Given the description of an element on the screen output the (x, y) to click on. 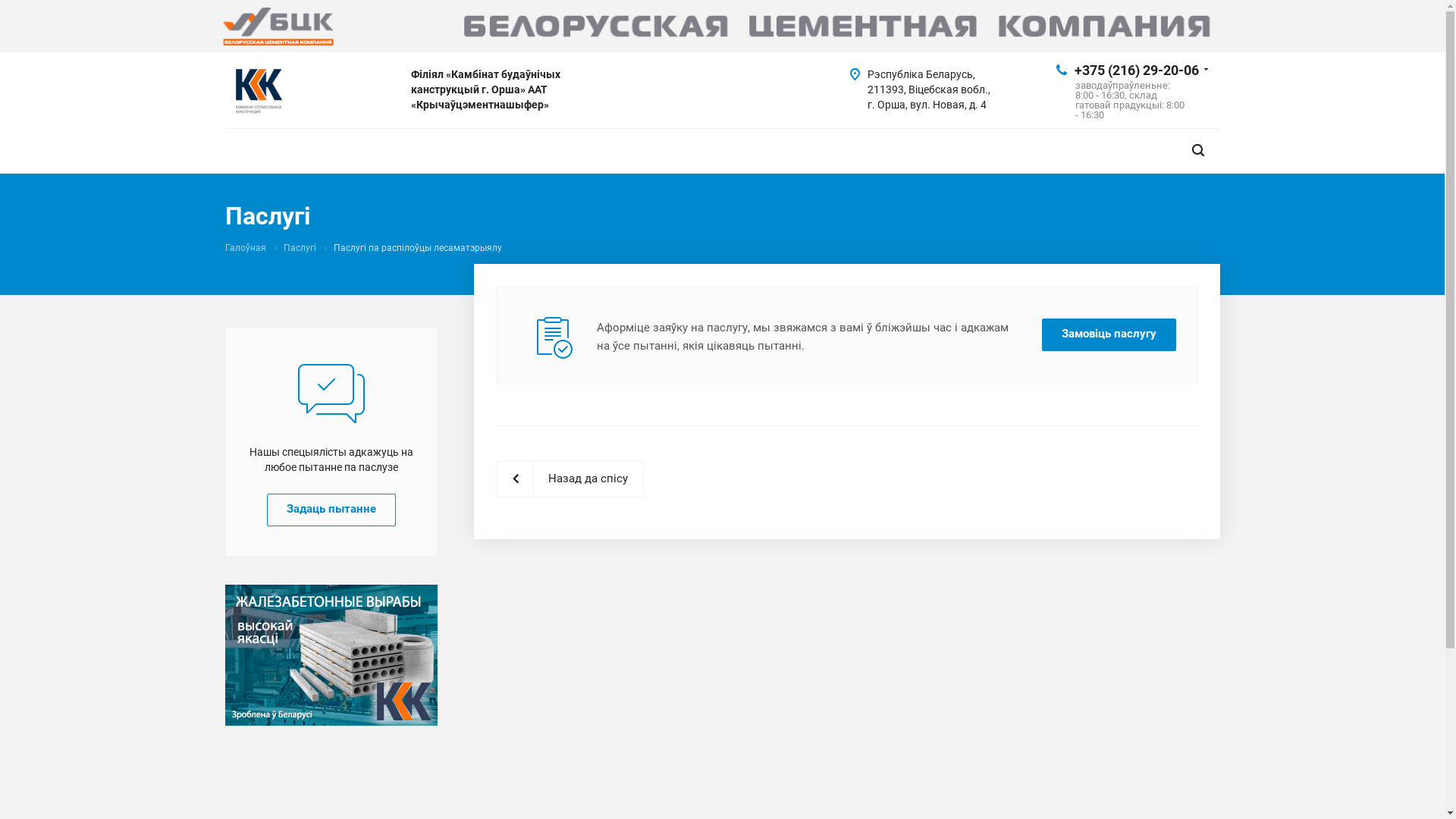
+375 (216) 29-20-06 Element type: text (1135, 70)
